Given the description of an element on the screen output the (x, y) to click on. 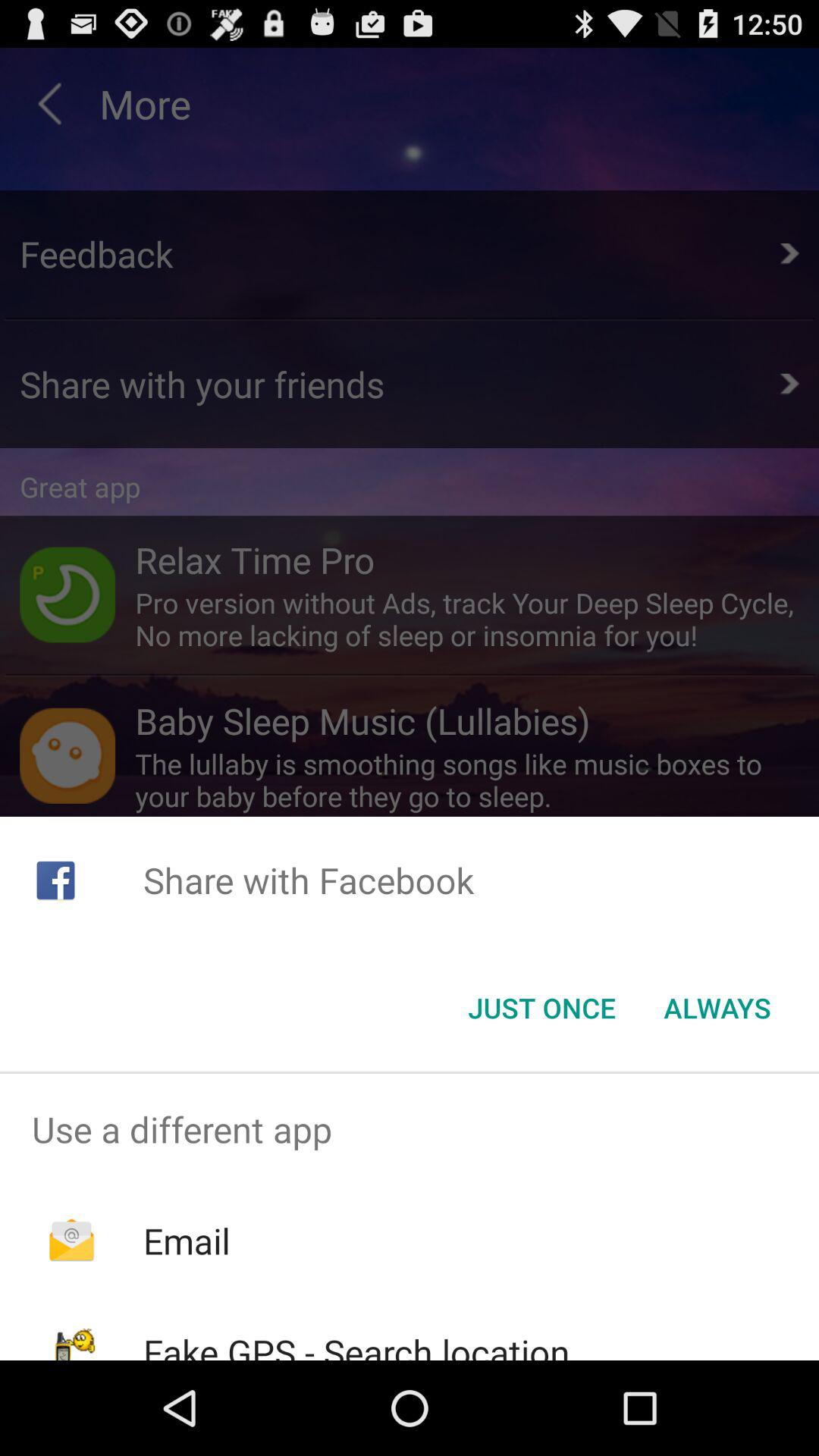
jump until fake gps search icon (356, 1344)
